Given the description of an element on the screen output the (x, y) to click on. 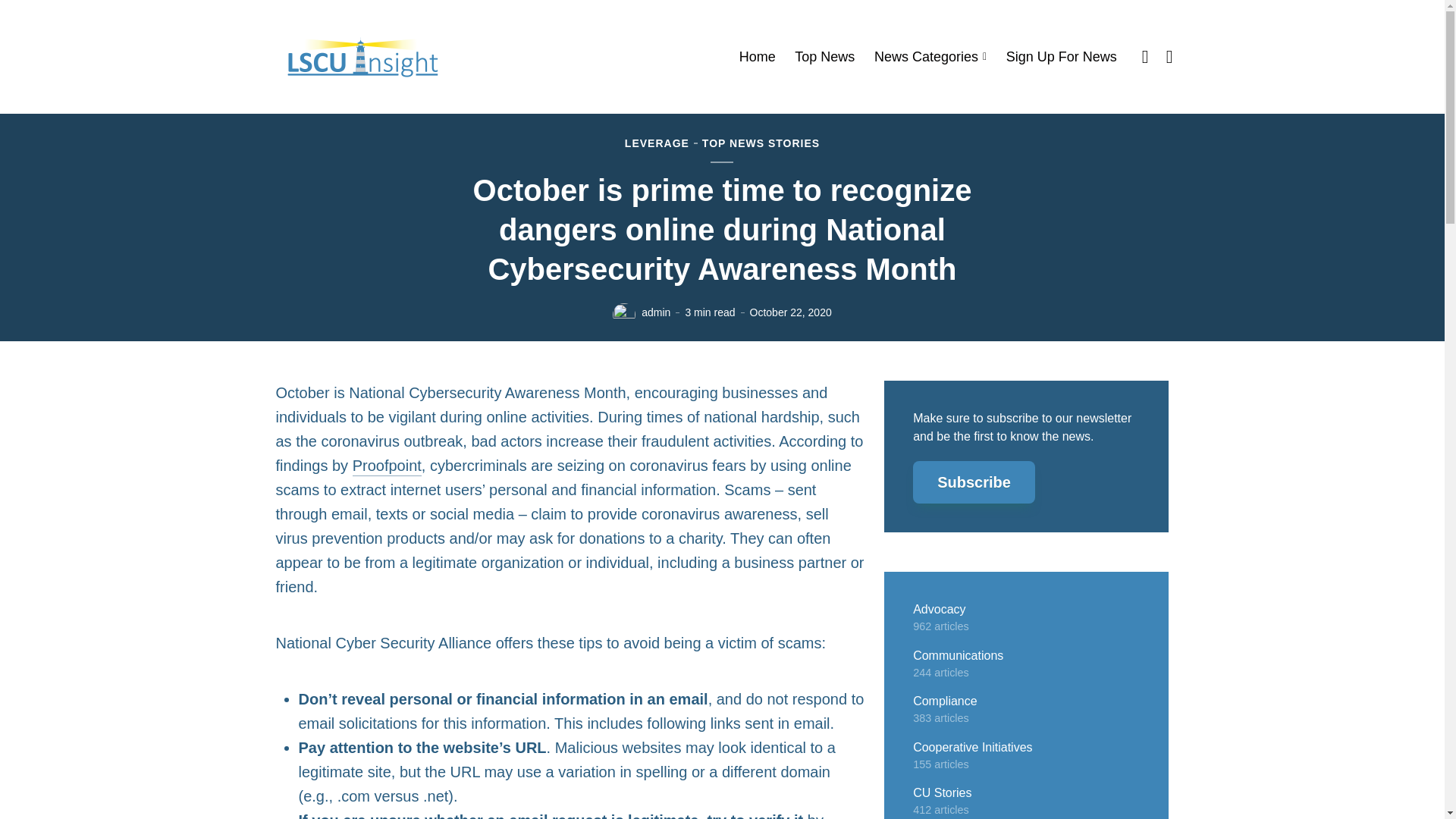
News Categories (931, 56)
Home (757, 56)
TOP NEWS STORIES (760, 143)
LEVERAGE (656, 143)
Sign Up For News (1061, 56)
Top News (824, 56)
